Given the description of an element on the screen output the (x, y) to click on. 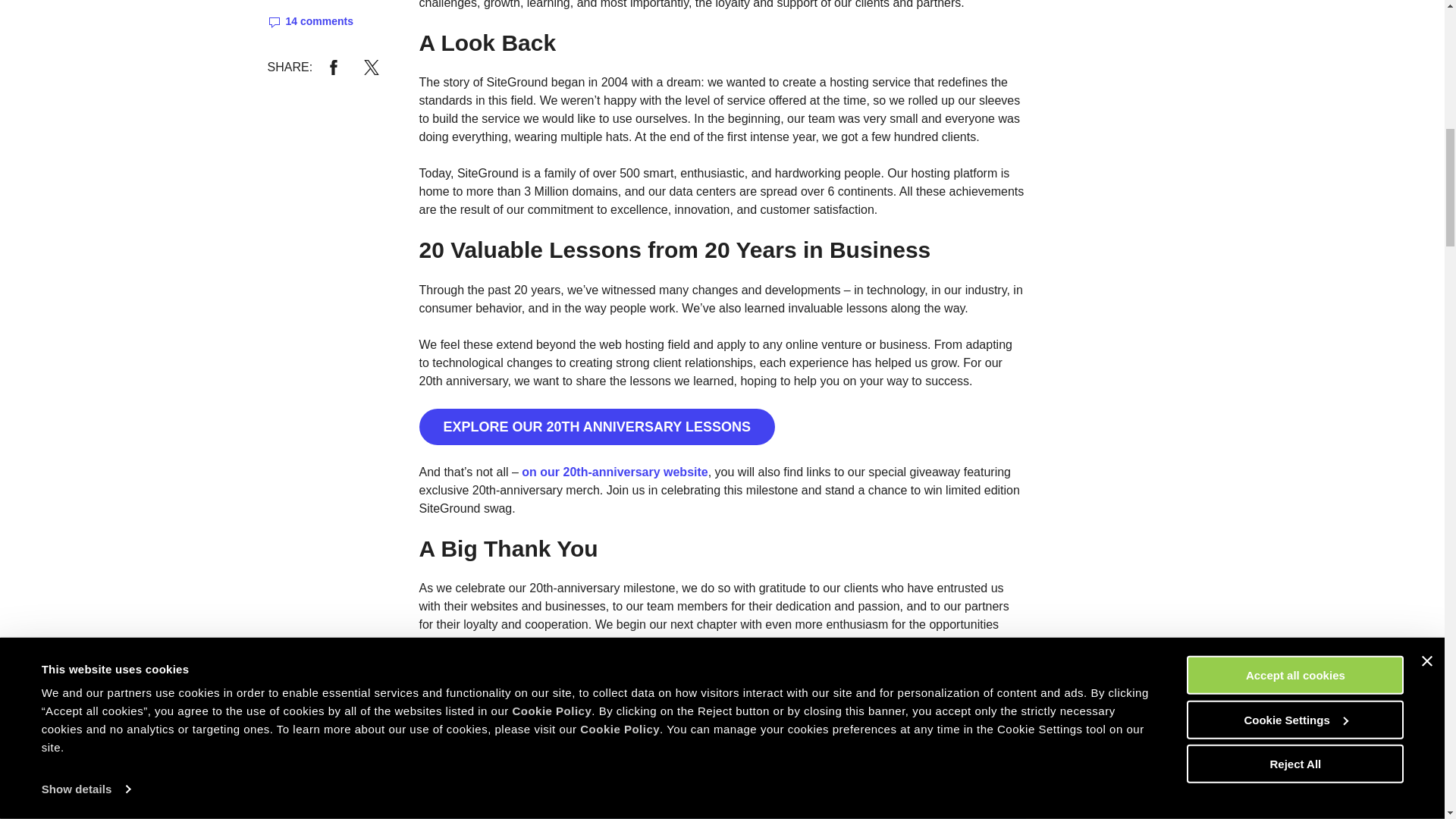
FACEBOOK (333, 67)
